Given the description of an element on the screen output the (x, y) to click on. 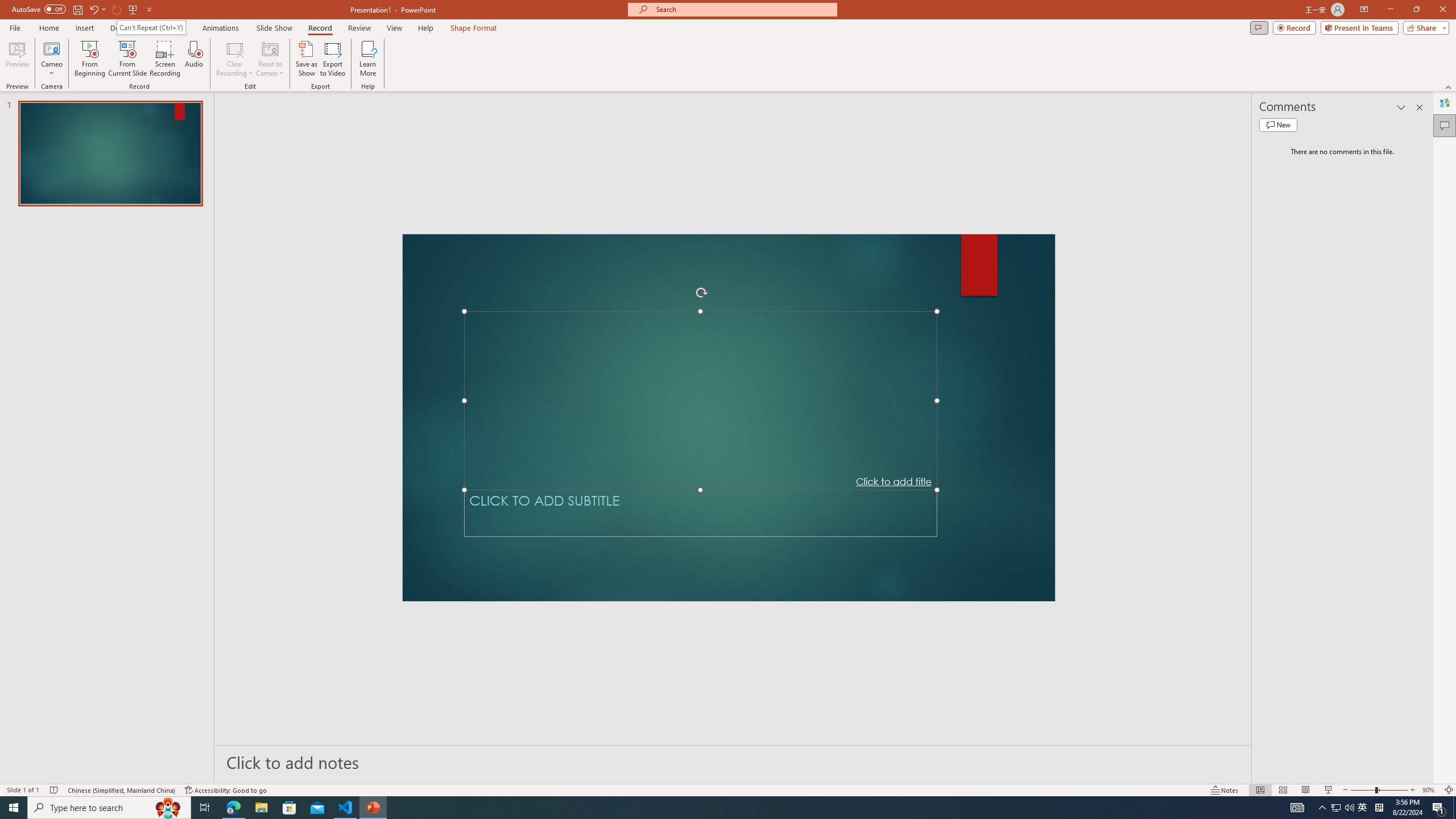
Reset to Cameo (269, 58)
From Current Slide... (127, 58)
